Given the description of an element on the screen output the (x, y) to click on. 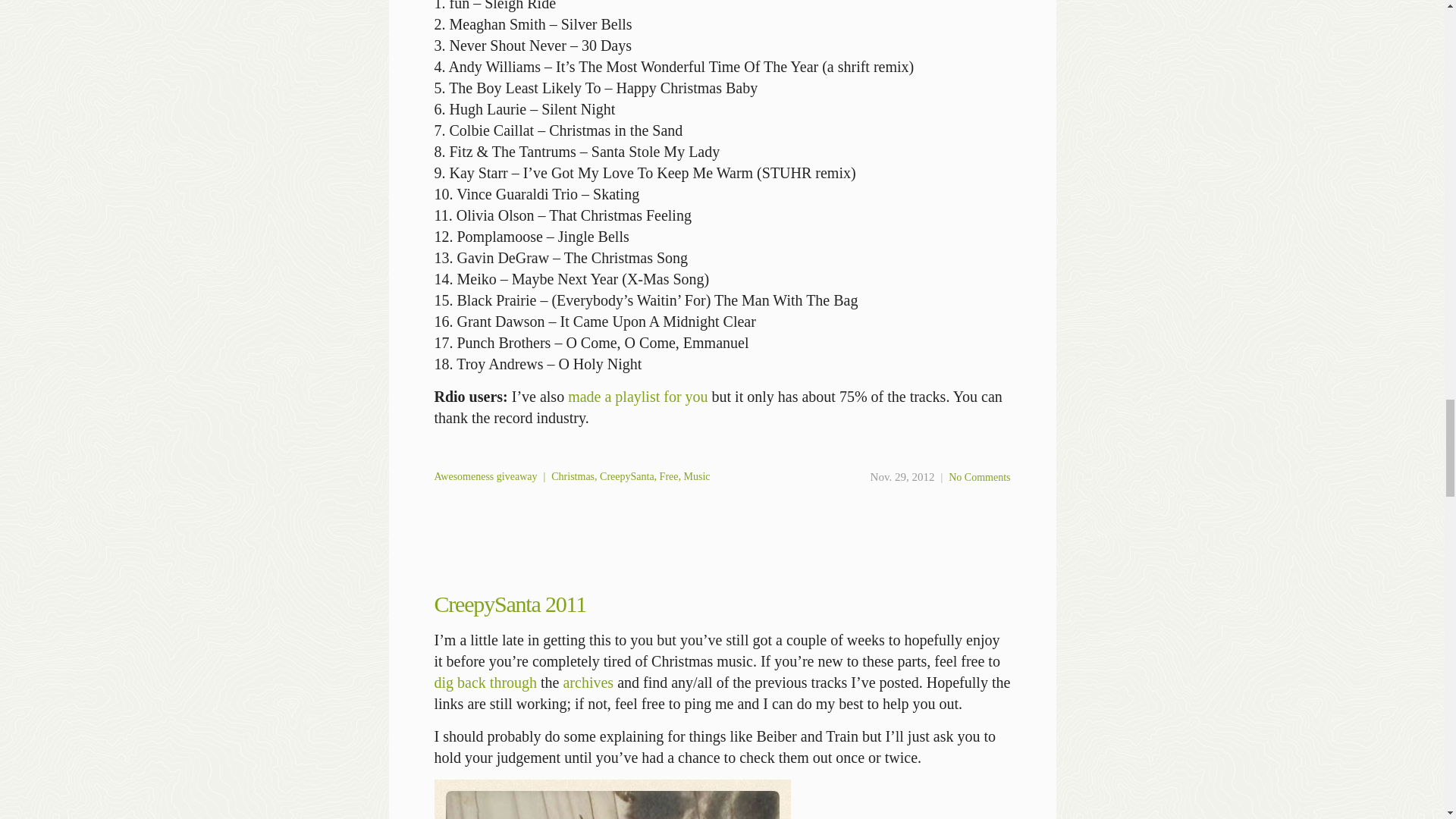
CreepySanta 2011 - A decent Christmas playlist for 2011 (611, 799)
made a playlist for you (637, 396)
giveaway (516, 476)
Awesomeness (463, 476)
